Given the description of an element on the screen output the (x, y) to click on. 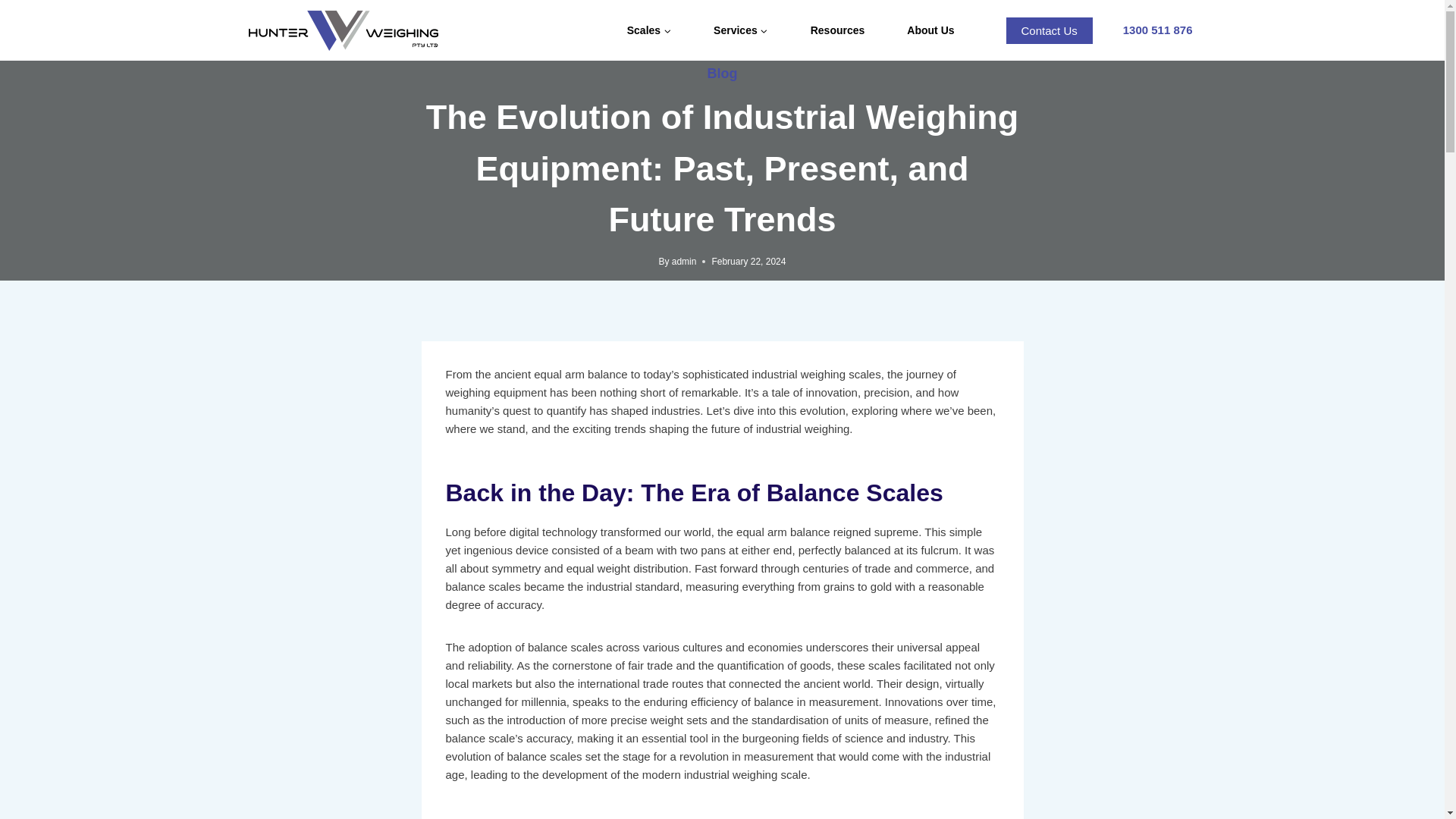
admin (684, 261)
About Us (930, 30)
1300 511 876 (1148, 30)
Resources (837, 30)
Services (741, 30)
Contact Us (1049, 29)
Scales (649, 30)
Blog (721, 73)
